Given the description of an element on the screen output the (x, y) to click on. 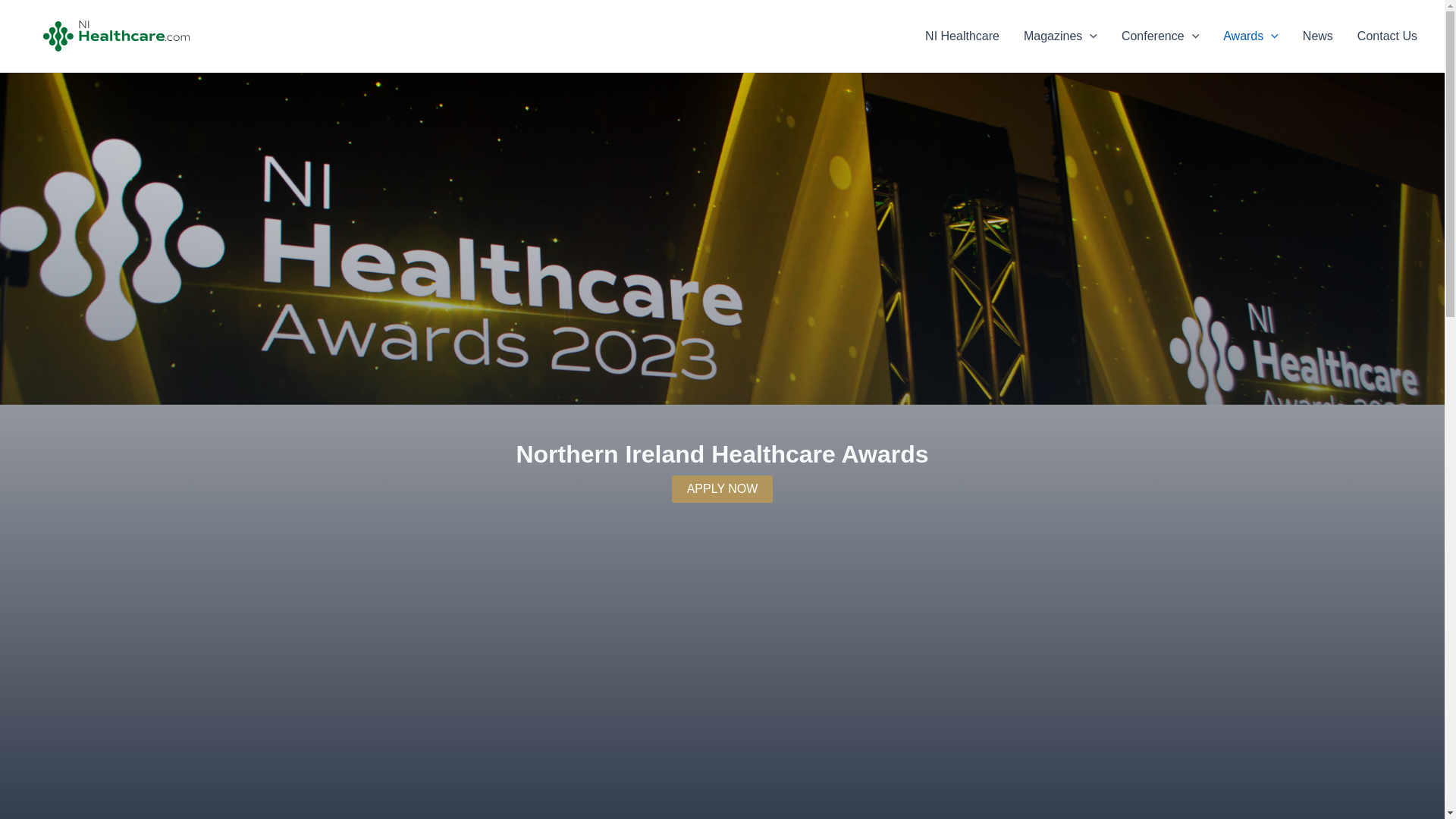
Awards (1250, 35)
Conference (1160, 35)
News (1317, 35)
APPLY NOW (722, 488)
NI Healthcare (961, 35)
Magazines (1060, 35)
Contact Us (1387, 35)
